Given the description of an element on the screen output the (x, y) to click on. 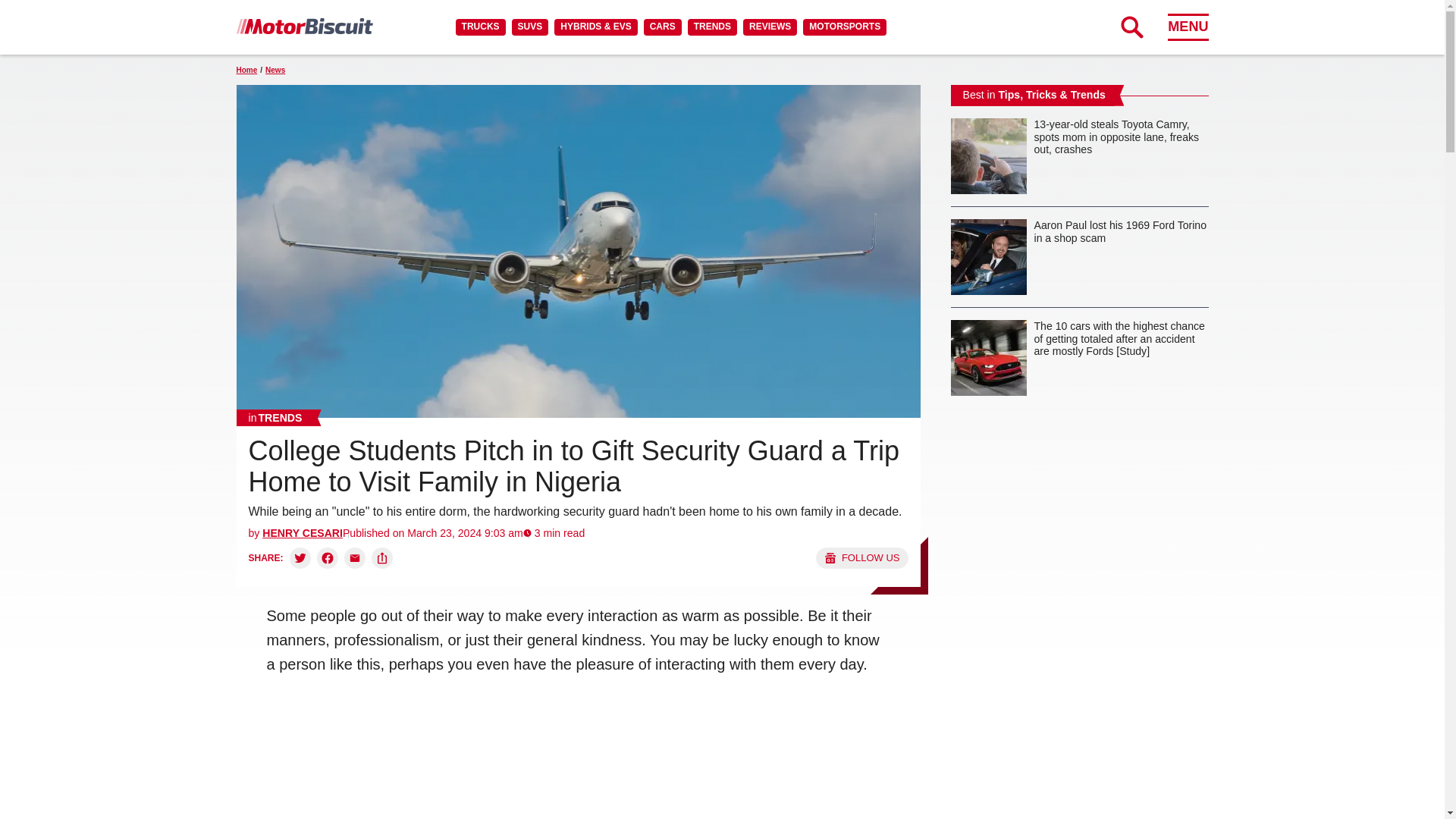
MENU (1187, 26)
TRUCKS (480, 26)
Expand Search (1131, 26)
TRENDS (711, 26)
REVIEWS (769, 26)
Copy link and share:  (382, 557)
Follow us on Google News (861, 557)
MOTORSPORTS (844, 26)
CARS (662, 26)
